Given the description of an element on the screen output the (x, y) to click on. 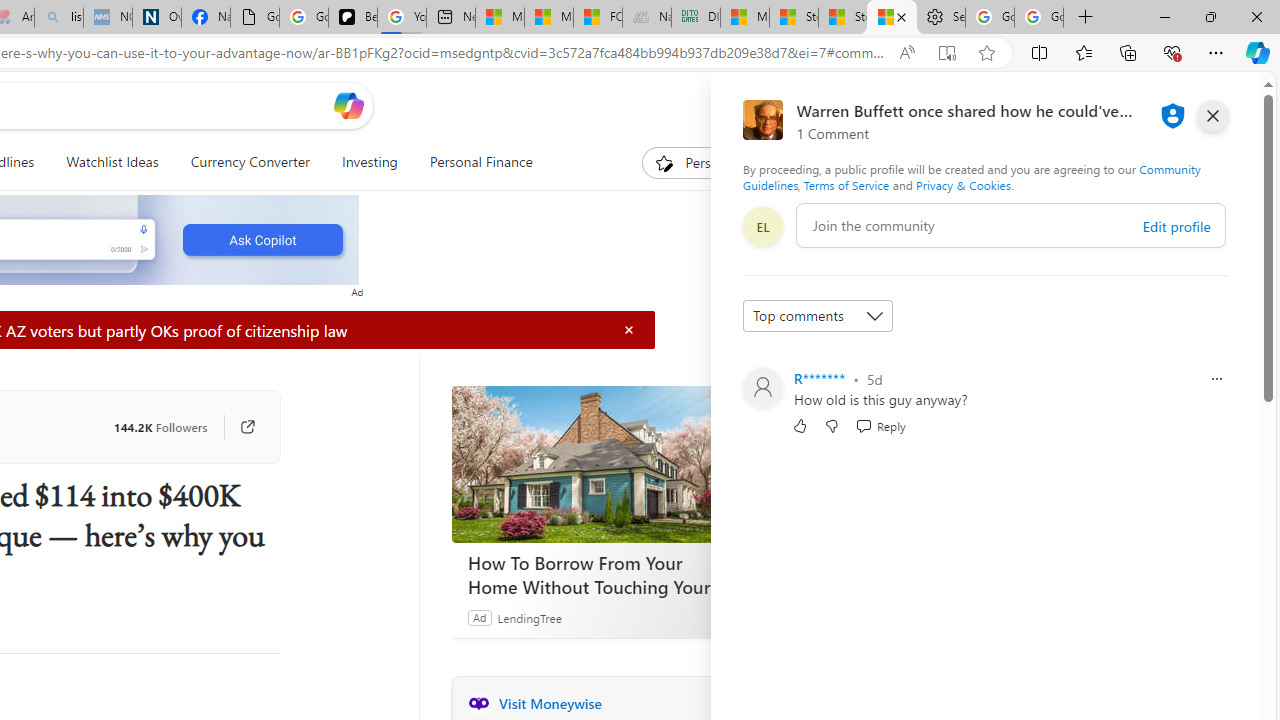
Google Analytics Opt-out Browser Add-on Download Page (254, 17)
Currency Converter (250, 162)
Community Guidelines (971, 176)
How To Borrow From Your Home Without Touching Your Mortgage (601, 574)
Moneywise (478, 703)
Microsoft rewards (1137, 105)
Edit profile (1175, 226)
